Given the description of an element on the screen output the (x, y) to click on. 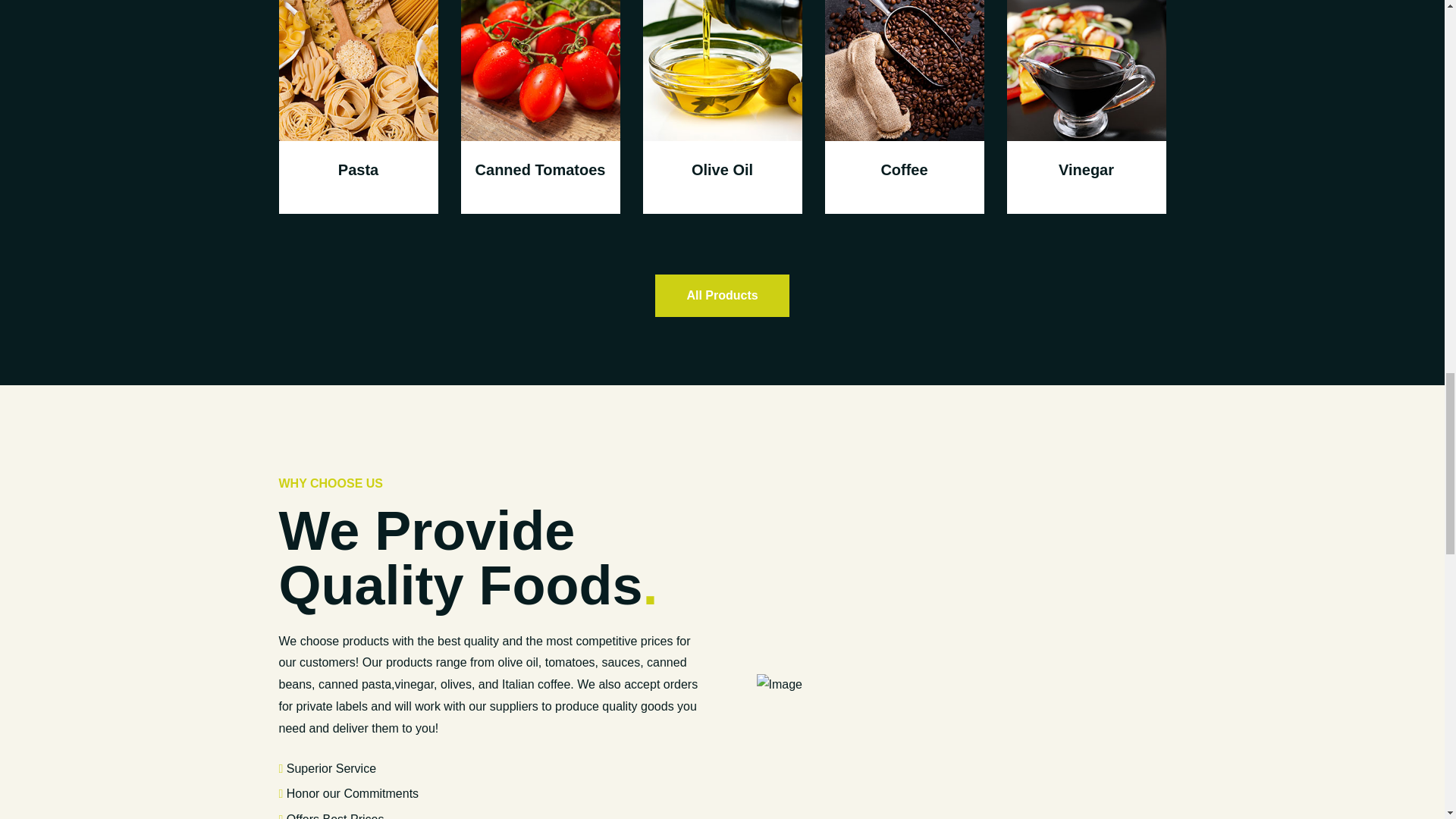
All Products (722, 295)
